Given the description of an element on the screen output the (x, y) to click on. 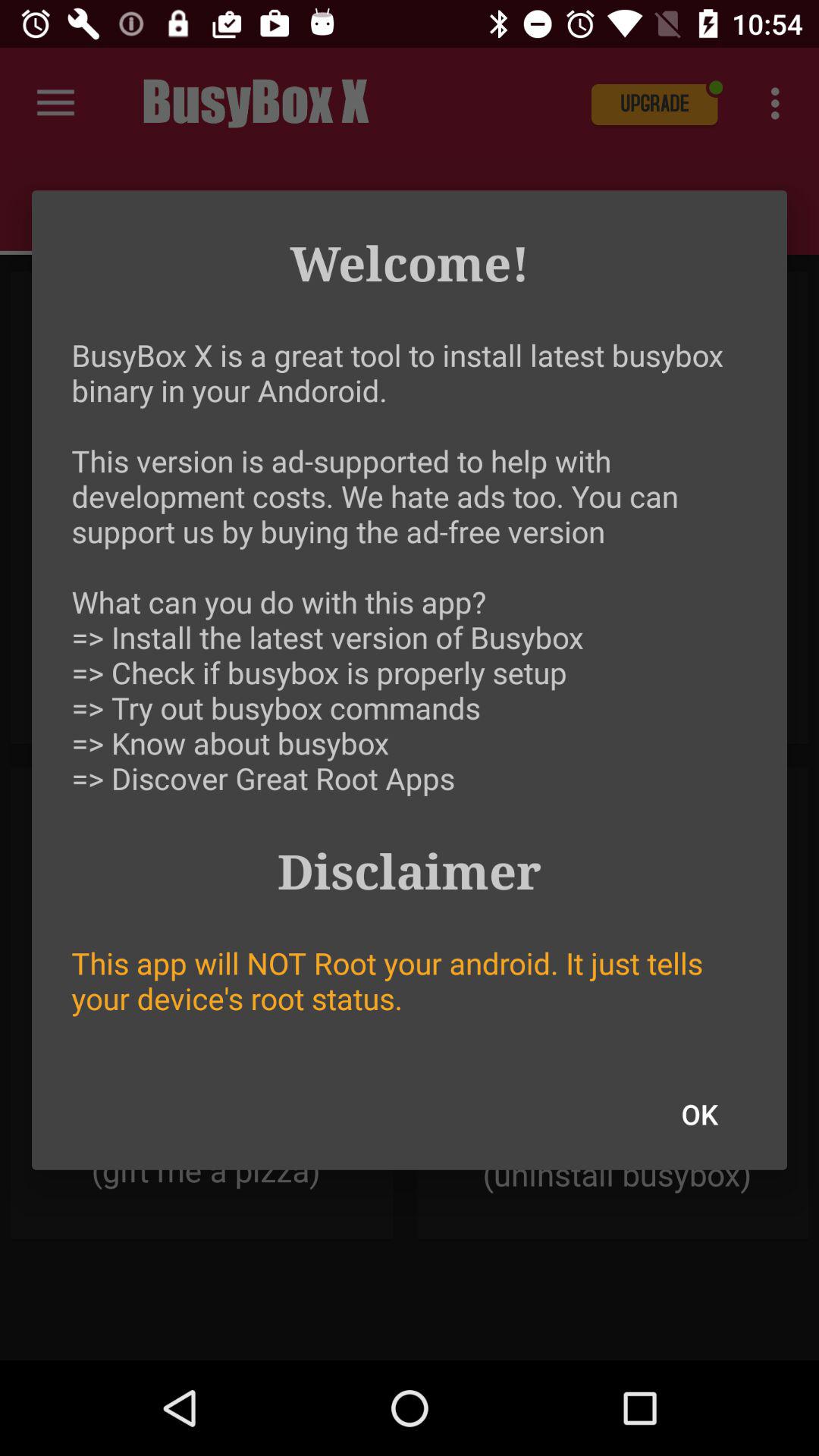
tap ok item (699, 1113)
